Given the description of an element on the screen output the (x, y) to click on. 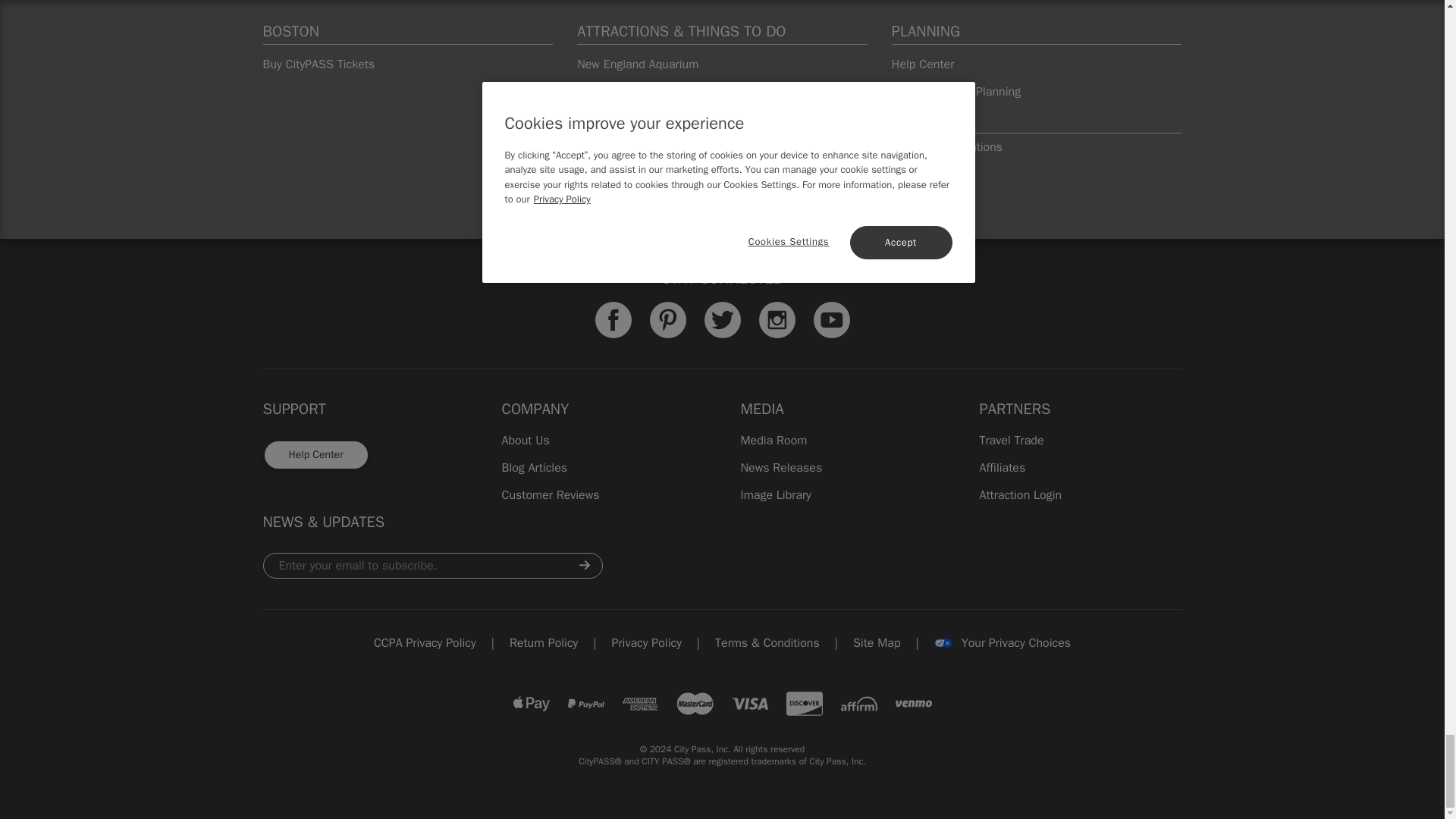
CityPASS on Instagram (776, 319)
Buy CityPASS Tickets (407, 64)
Privacy Policy (646, 642)
CityPASS on Youtube (830, 319)
CCPA Privacy Policy (425, 642)
New England Aquarium (721, 64)
CityPASS on Twitter (721, 319)
CityPASS on Facebook (612, 319)
CityPASS on Pinterest (667, 319)
Return Policy (543, 642)
